Given the description of an element on the screen output the (x, y) to click on. 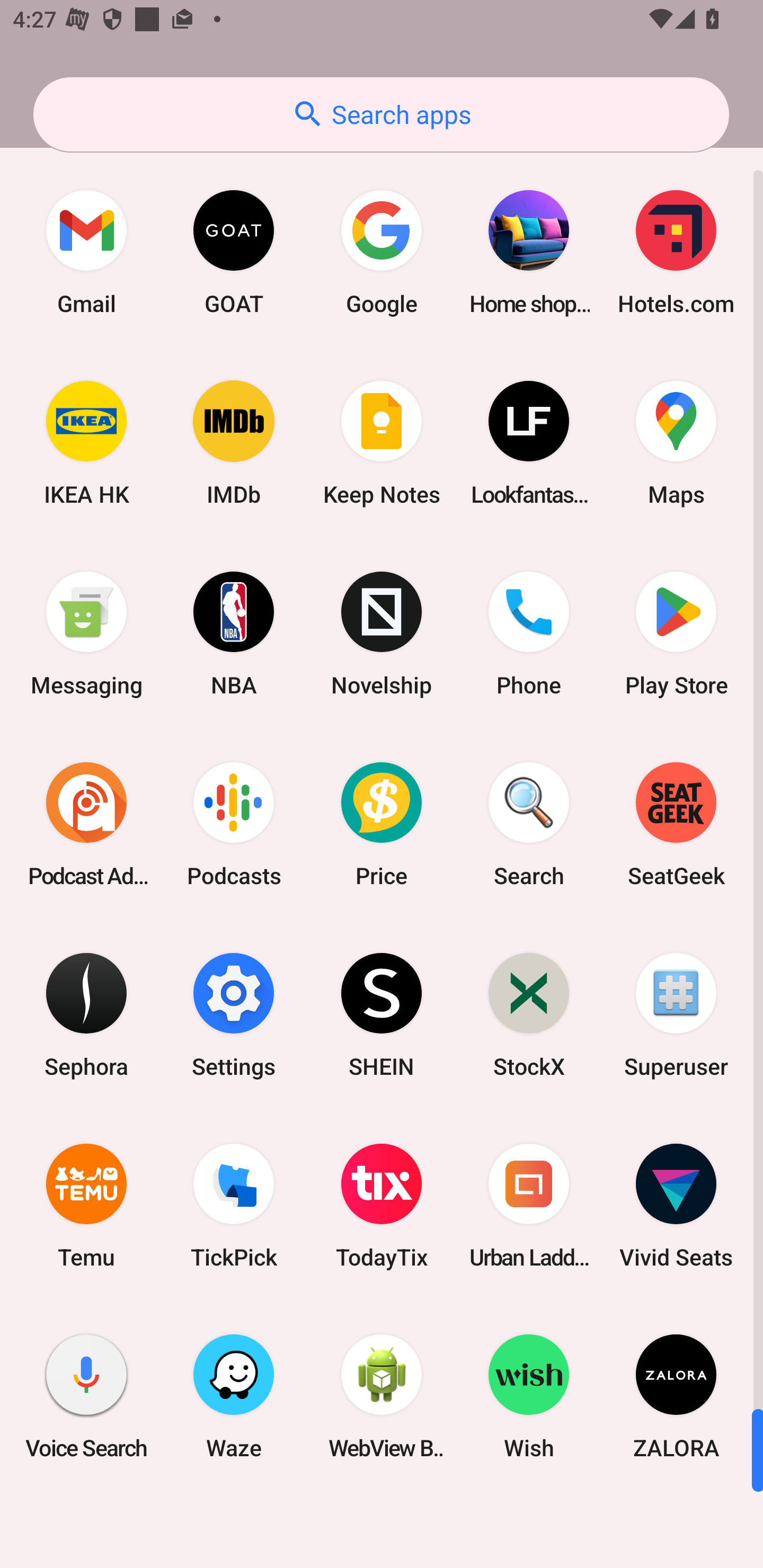
  Search apps (381, 114)
Gmail (86, 252)
GOAT (233, 252)
Google (381, 252)
Home shopping (528, 252)
Hotels.com (676, 252)
IKEA HK (86, 442)
IMDb (233, 442)
Keep Notes (381, 442)
Lookfantastic (528, 442)
Maps (676, 442)
Messaging (86, 633)
NBA (233, 633)
Novelship (381, 633)
Phone (528, 633)
Play Store (676, 633)
Podcast Addict (86, 823)
Podcasts (233, 823)
Price (381, 823)
Search (528, 823)
SeatGeek (676, 823)
Sephora (86, 1014)
Settings (233, 1014)
SHEIN (381, 1014)
StockX (528, 1014)
Superuser (676, 1014)
Temu (86, 1205)
TickPick (233, 1205)
TodayTix (381, 1205)
Urban Ladder (528, 1205)
Vivid Seats (676, 1205)
Voice Search (86, 1396)
Waze (233, 1396)
WebView Browser Tester (381, 1396)
Wish (528, 1396)
ZALORA (676, 1396)
